Given the description of an element on the screen output the (x, y) to click on. 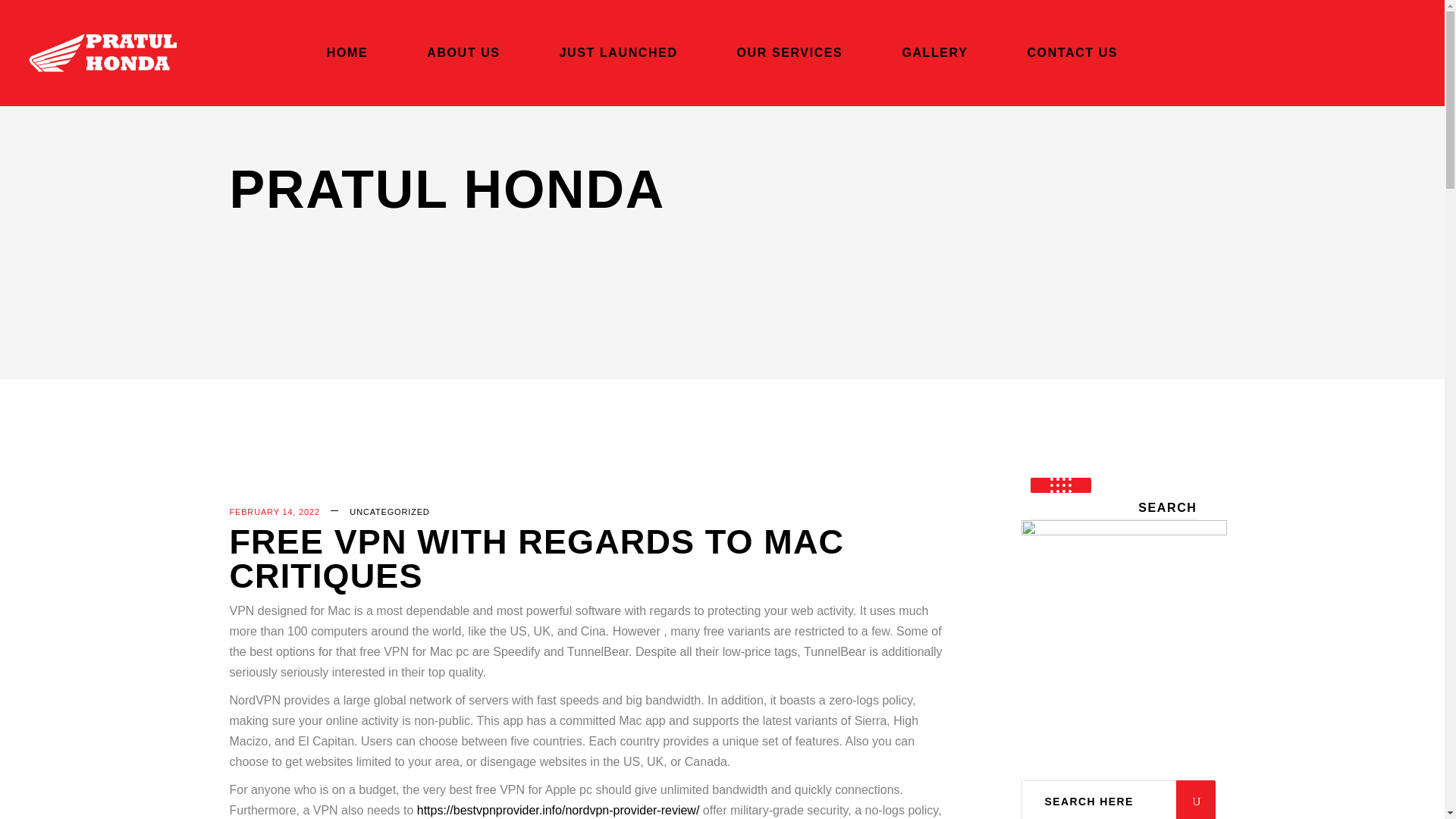
CONTACT US (1072, 53)
ABOUT US (462, 53)
HOME (347, 53)
JUST LAUNCHED (618, 53)
GALLERY (933, 53)
UNCATEGORIZED (389, 511)
FEBRUARY 14, 2022 (273, 511)
OUR SERVICES (789, 53)
